Given the description of an element on the screen output the (x, y) to click on. 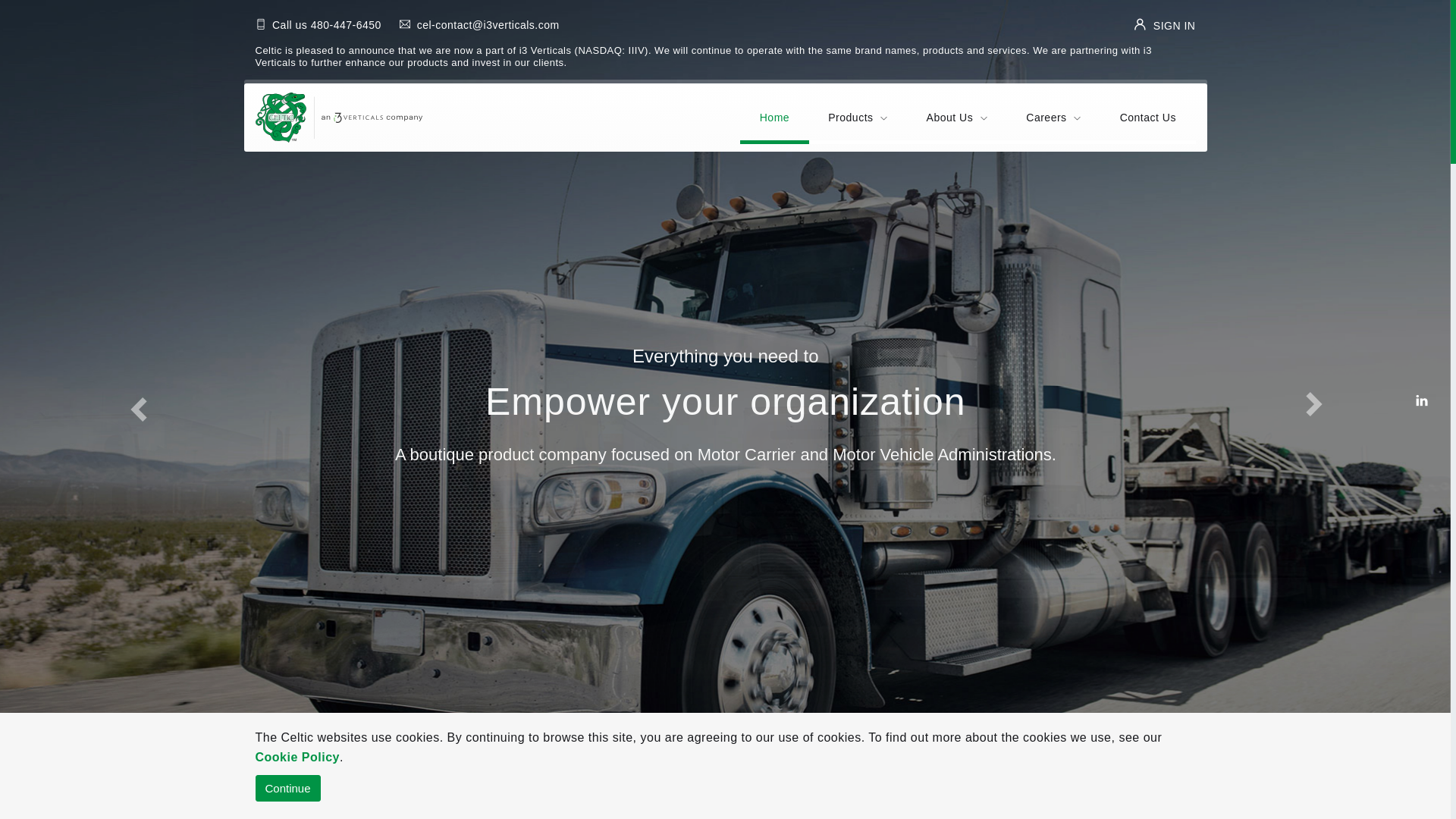
MOBILE PRODUCTS Element type: text (1101, 799)
Products  Element type: text (857, 116)
Careers  Element type: text (1053, 116)
TRAINING Element type: text (913, 799)
SIGN IN Element type: text (1164, 25)
Linkedin, opens in a new window Element type: hover (1421, 400)
cel-contact@i3verticals.com Element type: text (479, 24)
MOTOR VEHICLE Element type: text (537, 799)
Home Element type: text (774, 115)
CELTIC Systems - an i3 Verticals Company Element type: hover (337, 117)
BUSINESS MANAGEMENT Element type: text (724, 799)
Continue Element type: text (287, 788)
Cookie Policy Element type: text (296, 756)
MOTOR CARRIER Element type: text (348, 799)
Call us 480-447-6450 Element type: text (317, 24)
Get Started Element type: text (725, 519)
Contact Us Element type: text (1148, 115)
About Us  Element type: text (956, 116)
